Given the description of an element on the screen output the (x, y) to click on. 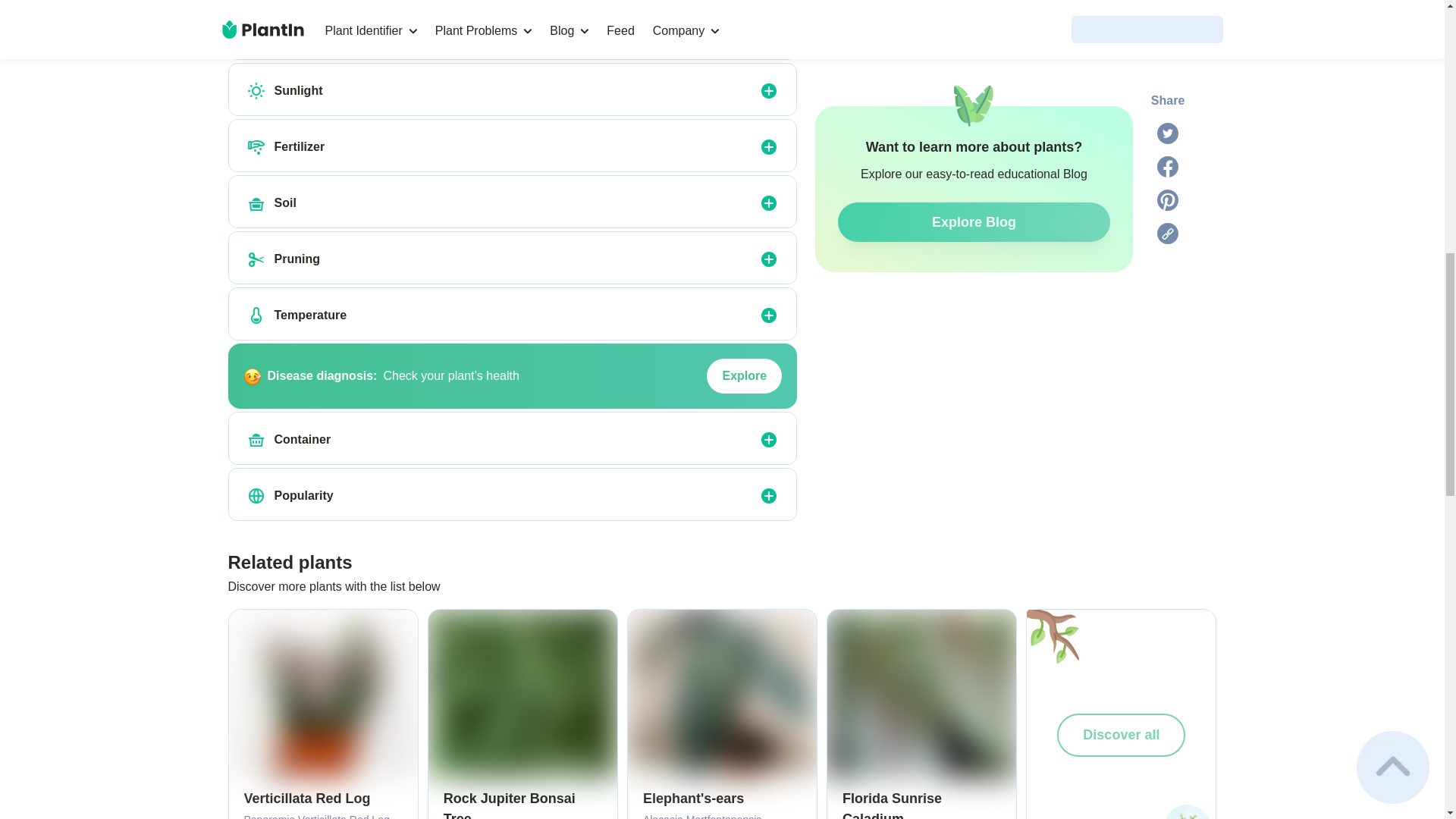
Soil (255, 203)
Temperature (255, 315)
Fertilizer (255, 147)
Explore Blog (973, 37)
Sunlight (255, 90)
Container (255, 439)
Pruning (255, 259)
Explore (743, 375)
Popularity (255, 495)
